Given the description of an element on the screen output the (x, y) to click on. 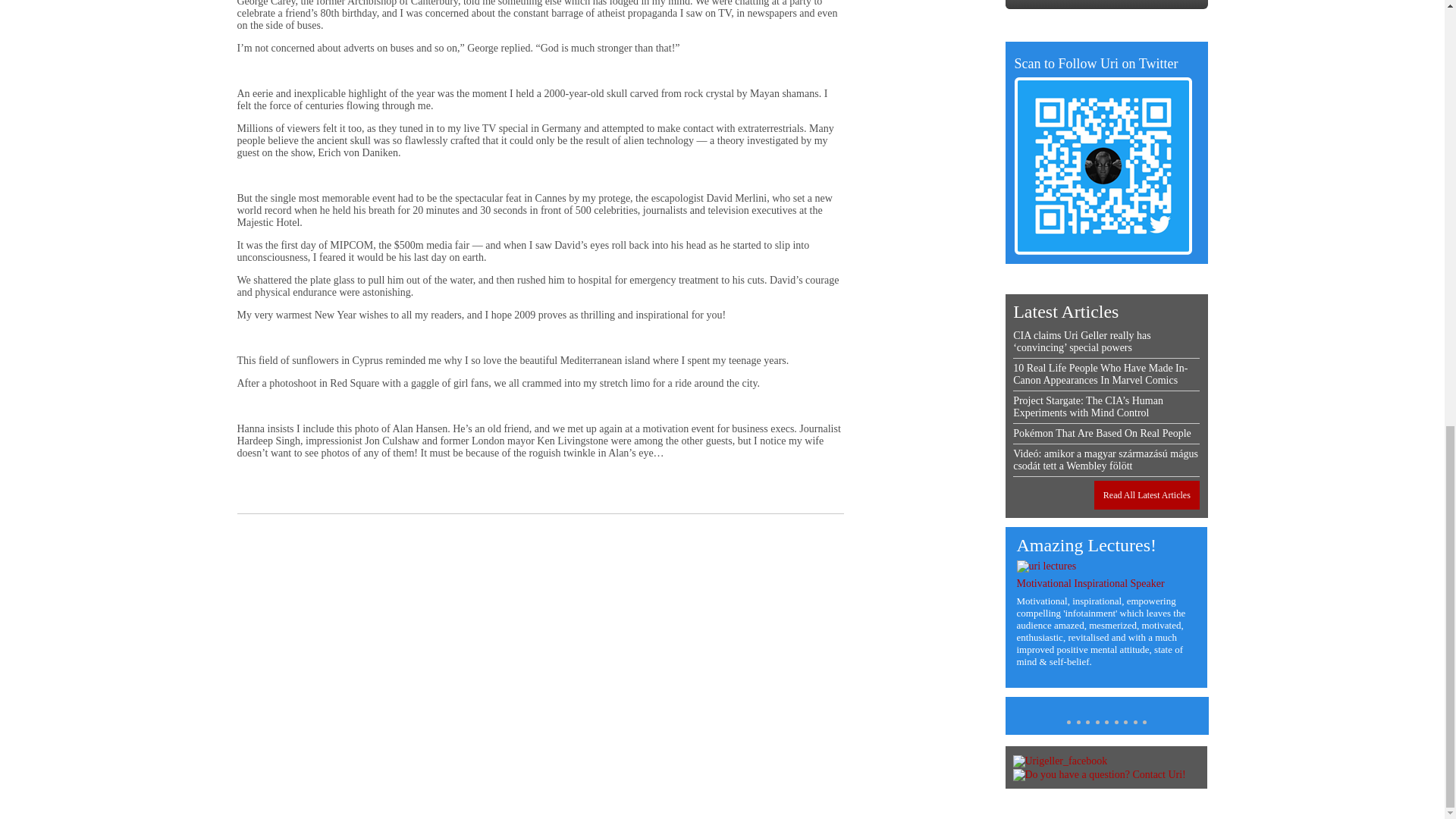
Read All Latest Articles (1146, 494)
Motivational Inspirational Speaker (1089, 583)
CONTACT URI (1107, 4)
